Given the description of an element on the screen output the (x, y) to click on. 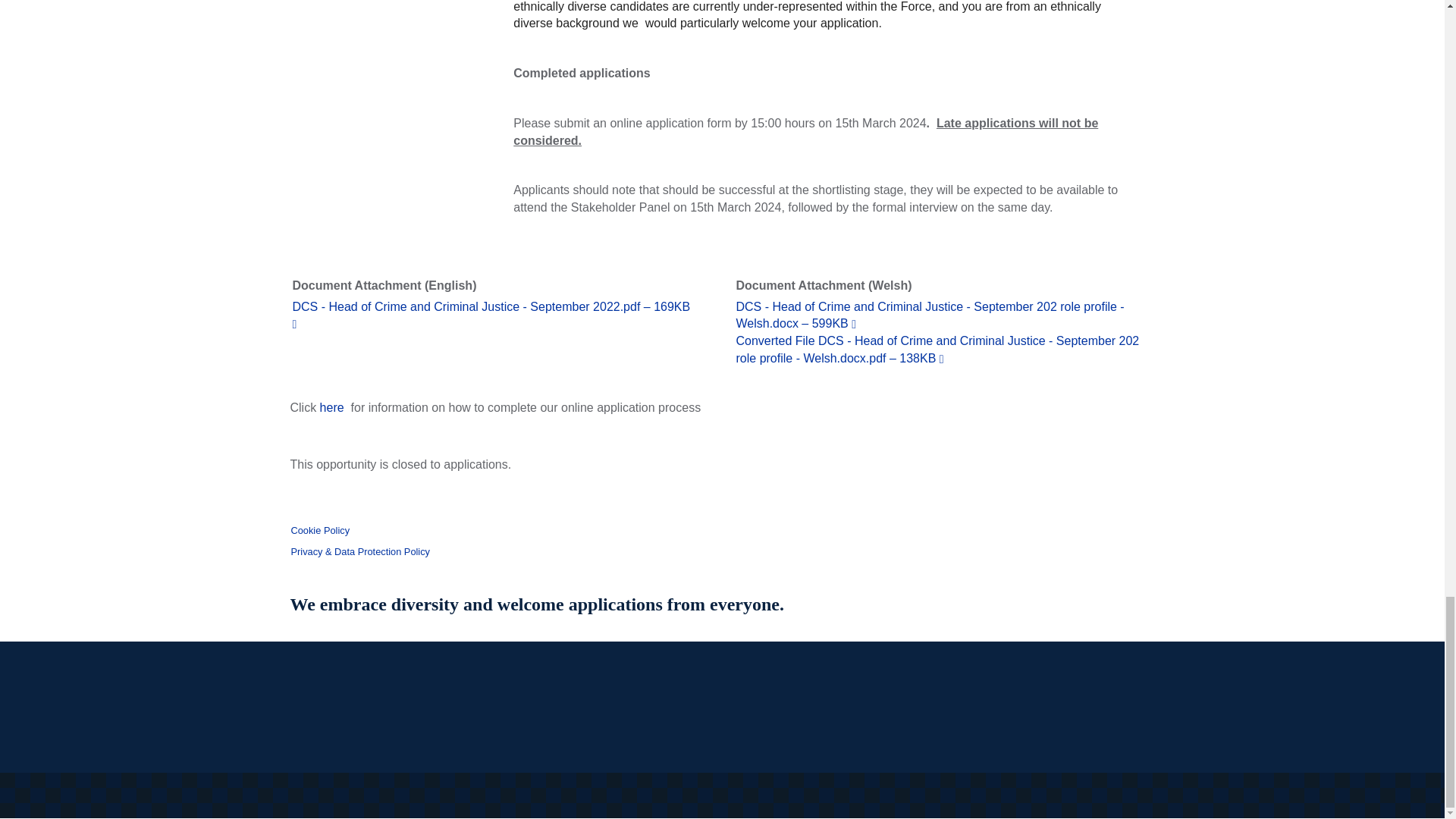
here (331, 407)
